Given the description of an element on the screen output the (x, y) to click on. 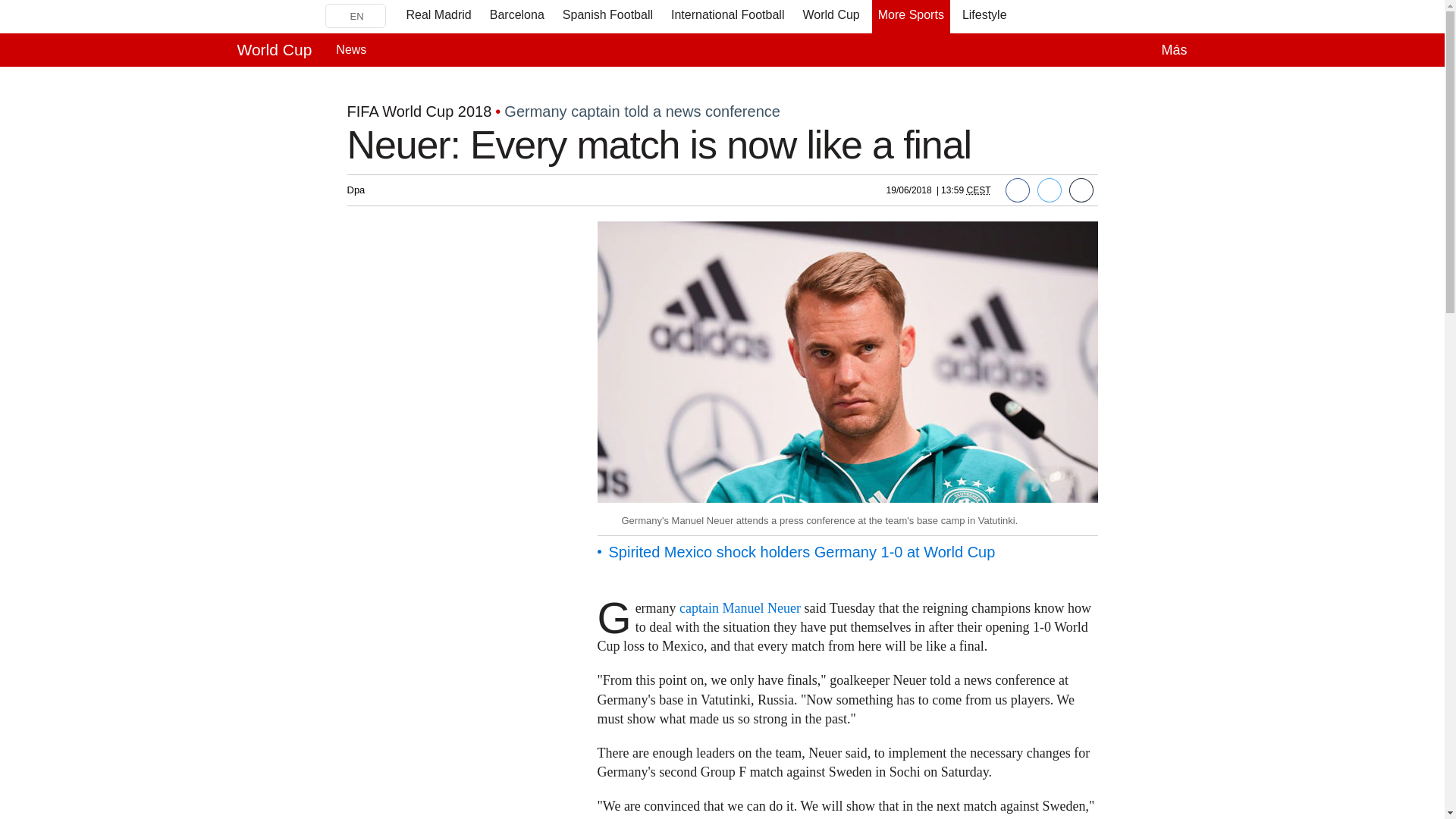
Real Madrid (438, 16)
Spanish Football (607, 16)
International Football (727, 16)
News (351, 49)
captain Manuel Neuer (739, 607)
More Sports (911, 16)
Twitter (1048, 190)
Facebook (1017, 190)
News (351, 49)
Barcelona (516, 16)
Lifestyle (984, 16)
World Cup (830, 16)
Spirited Mexico shock holders Germany 1-0 at World Cup (801, 551)
Marca (271, 16)
FIFA World Cup Russia 2018 (445, 95)
